Given the description of an element on the screen output the (x, y) to click on. 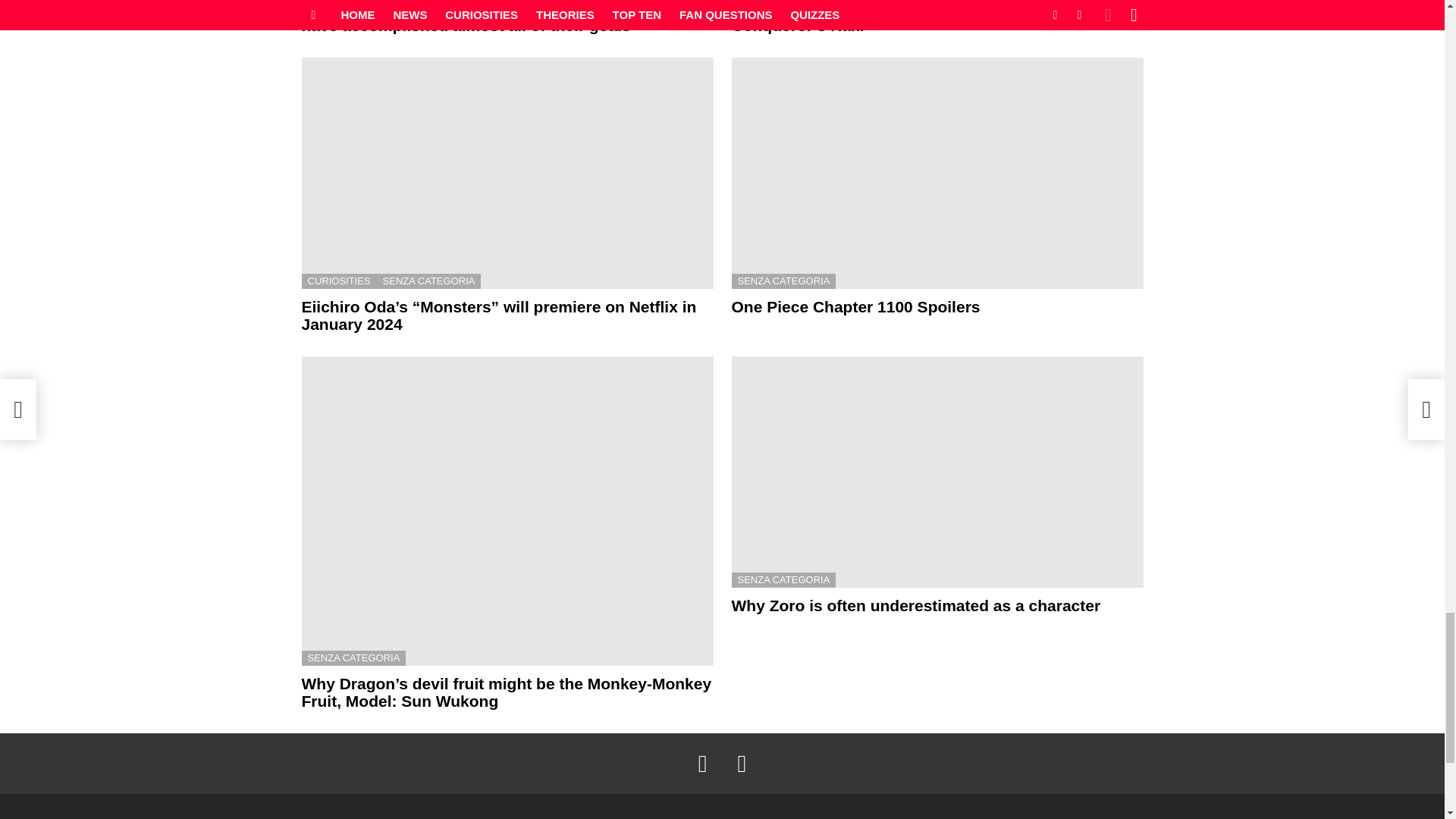
Why Zoro is often underestimated as a character (936, 472)
One Piece Chapter 1100 Spoilers (936, 173)
